Given the description of an element on the screen output the (x, y) to click on. 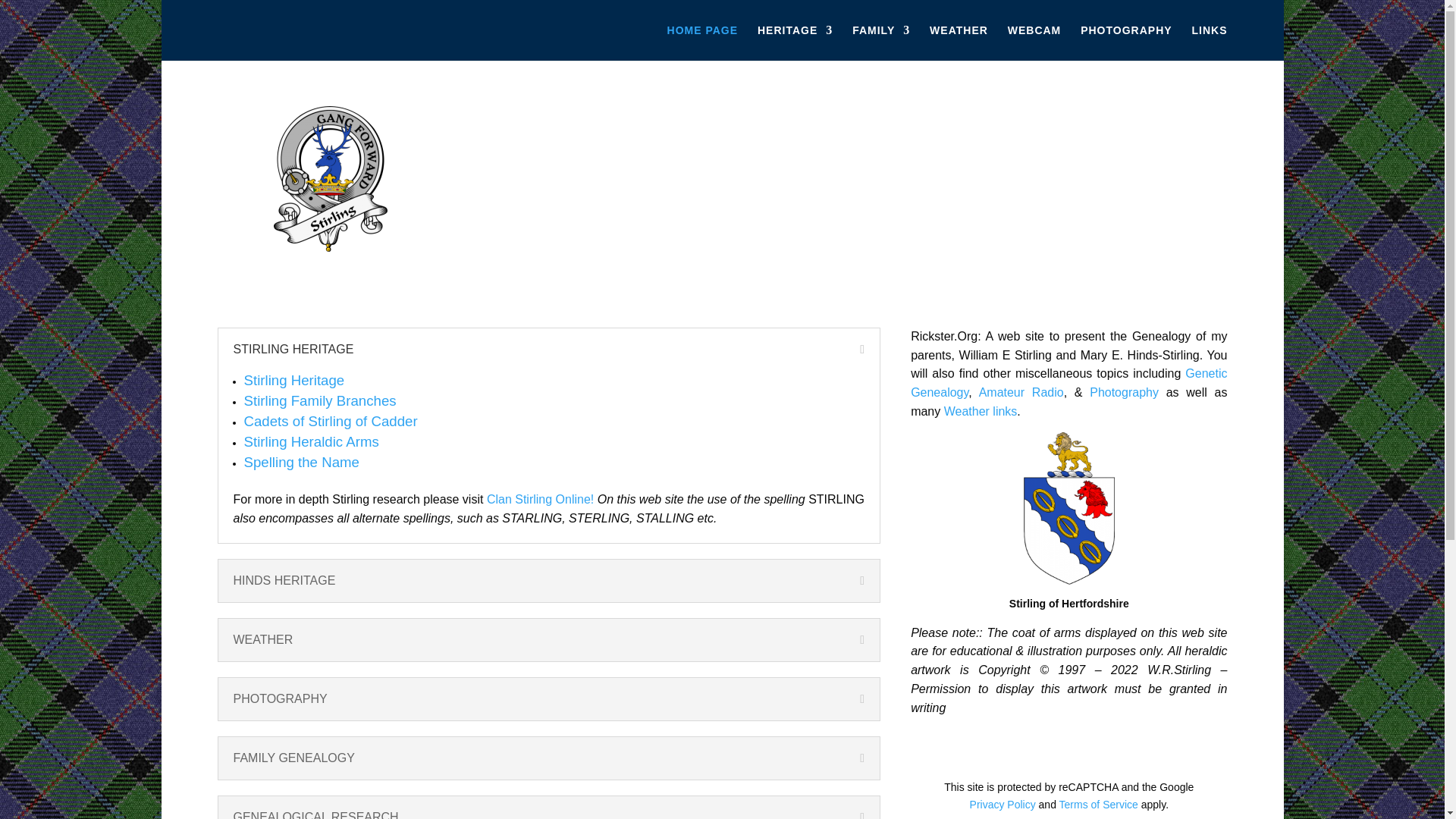
WEBCAM (1034, 42)
Heritage (294, 380)
Stirling Heritage (294, 380)
PHOTOGRAPHY (1126, 42)
WEATHER (959, 42)
FAMILY (880, 42)
Stirling Heraldic Arms (311, 441)
HOME PAGE (702, 42)
Cadets of Stirling of Cadder (330, 421)
Clan Stirling Online! (540, 499)
